Given the description of an element on the screen output the (x, y) to click on. 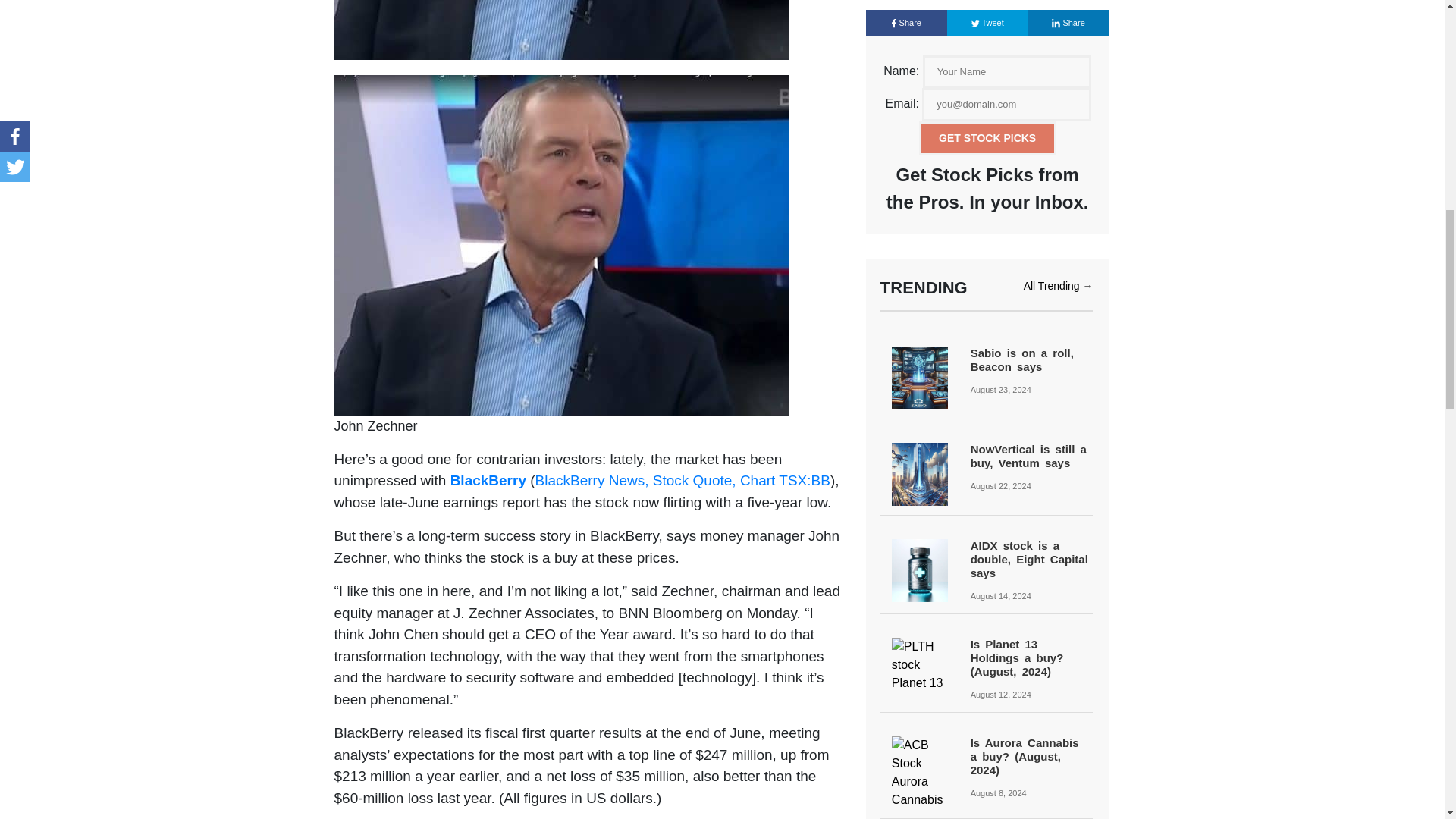
GET STOCK PICKS (987, 138)
BlackBerry News, Stock Quote, Chart TSX:BB (682, 480)
BlackBerry (487, 480)
